Given the description of an element on the screen output the (x, y) to click on. 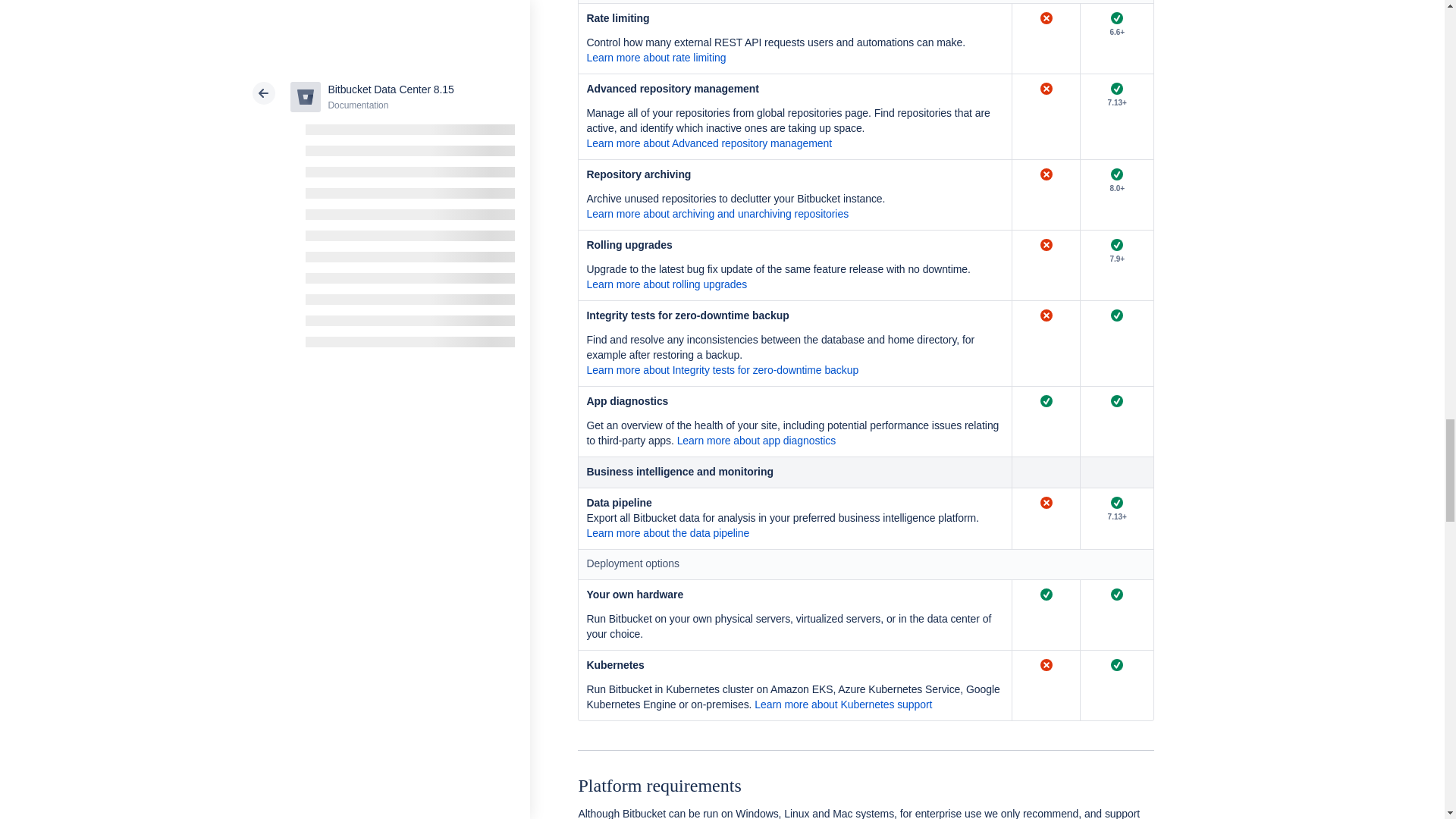
Background colour : Grey (1116, 472)
Background colour : Grey (794, 472)
Background colour : Grey (1045, 472)
